Given the description of an element on the screen output the (x, y) to click on. 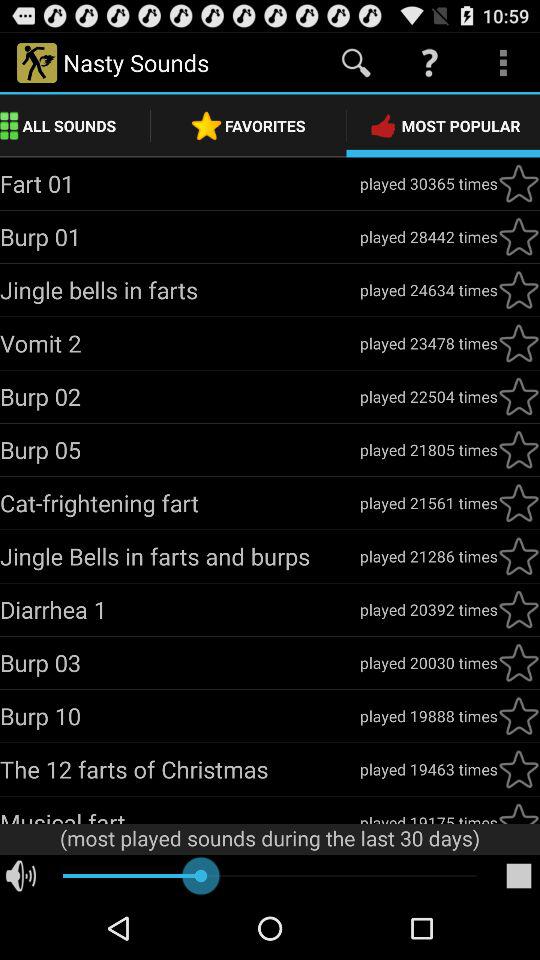
the button most popular click (519, 716)
